Given the description of an element on the screen output the (x, y) to click on. 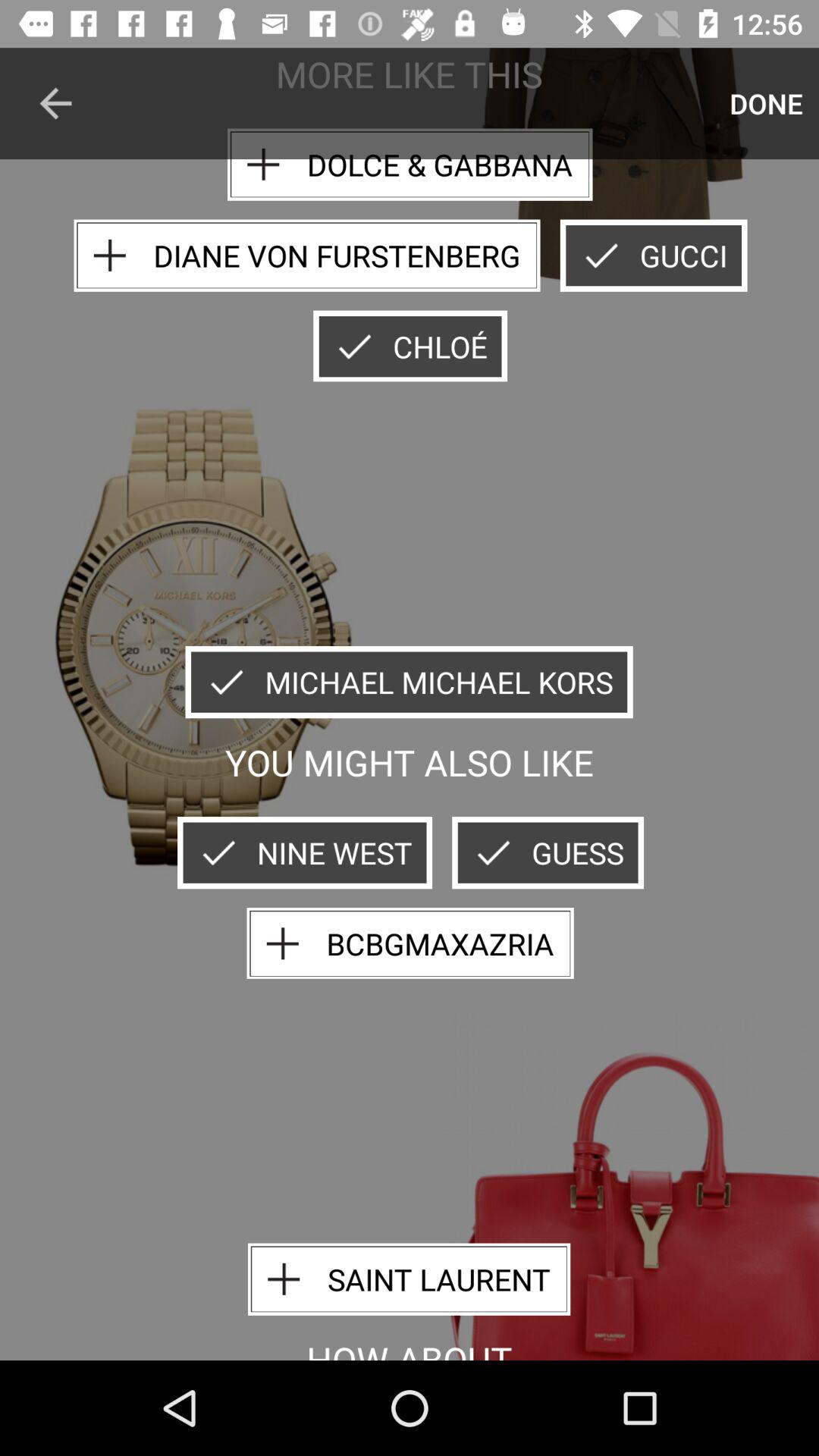
launch icon to the left of the dolce & gabbana (55, 103)
